Given the description of an element on the screen output the (x, y) to click on. 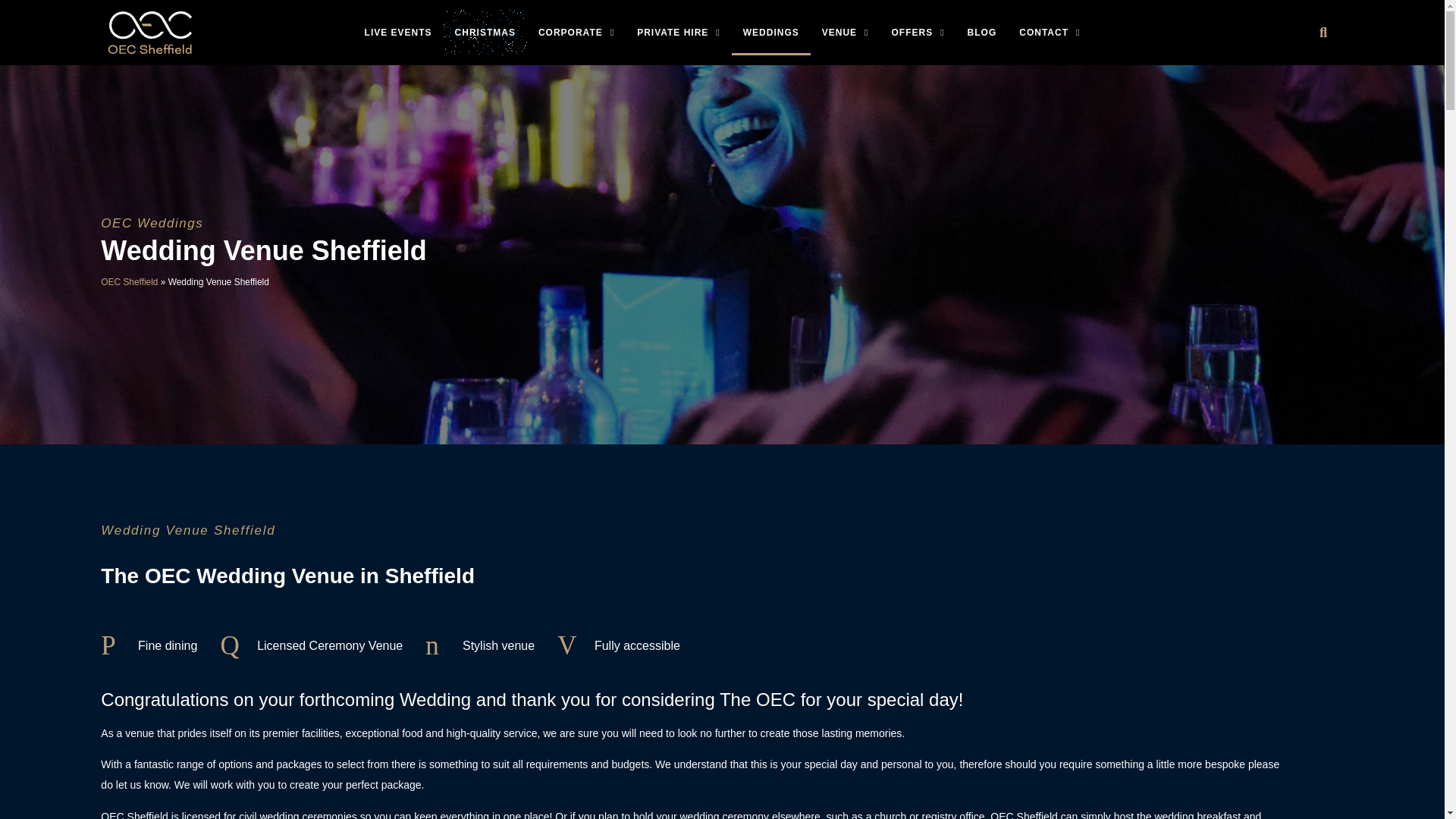
VENUE (845, 32)
BLOG (982, 32)
OFFERS (917, 32)
LIVE EVENTS (398, 32)
WEDDINGS (771, 32)
CHRISTMAS (485, 32)
CONTACT (1048, 32)
PRIVATE HIRE (679, 32)
CORPORATE (576, 32)
